Given the description of an element on the screen output the (x, y) to click on. 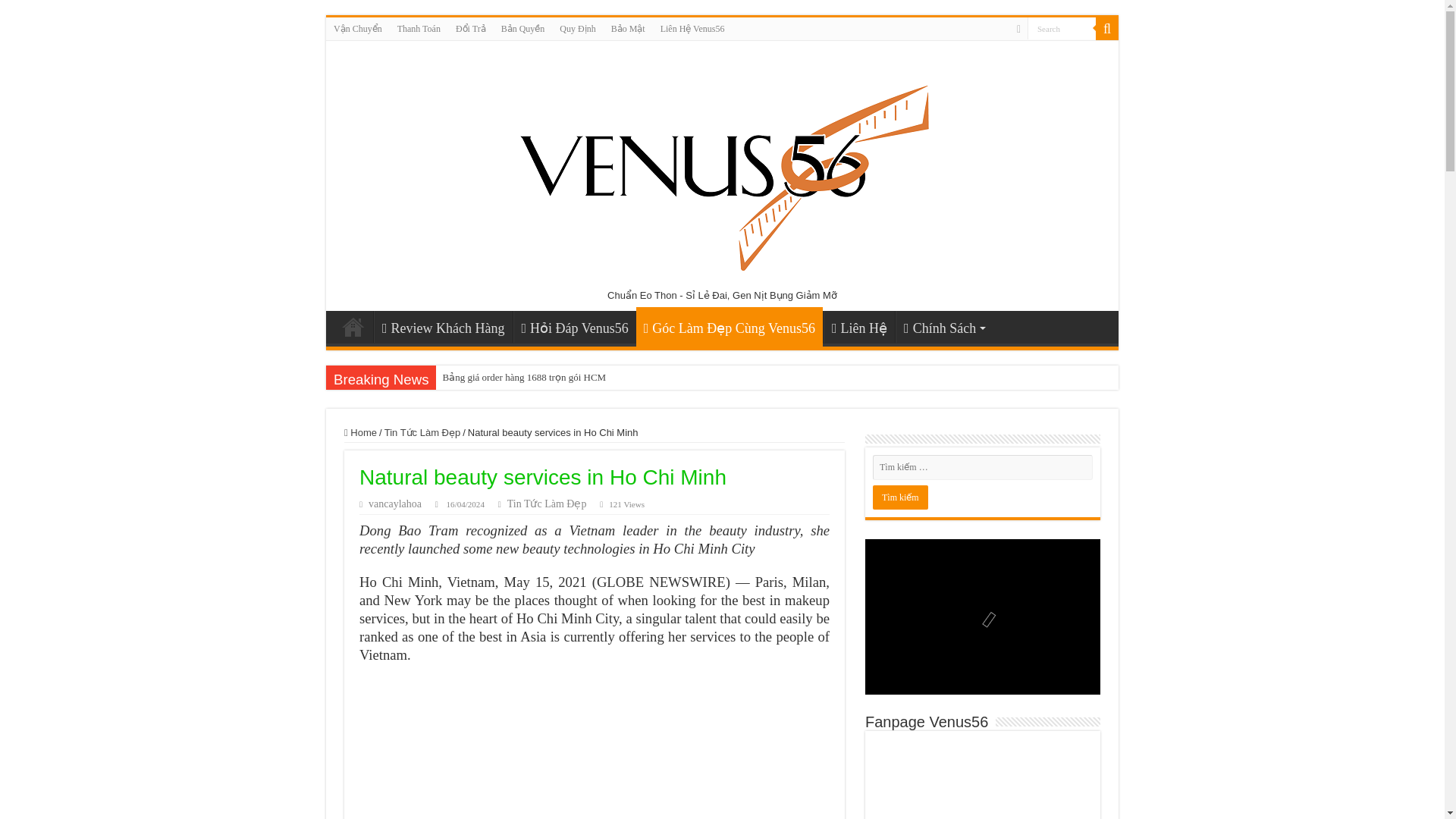
Venus56 (352, 327)
vancaylahoa (395, 503)
Search (1061, 28)
Search (1061, 28)
Search (1061, 28)
Search (1107, 28)
Home (360, 432)
